Given the description of an element on the screen output the (x, y) to click on. 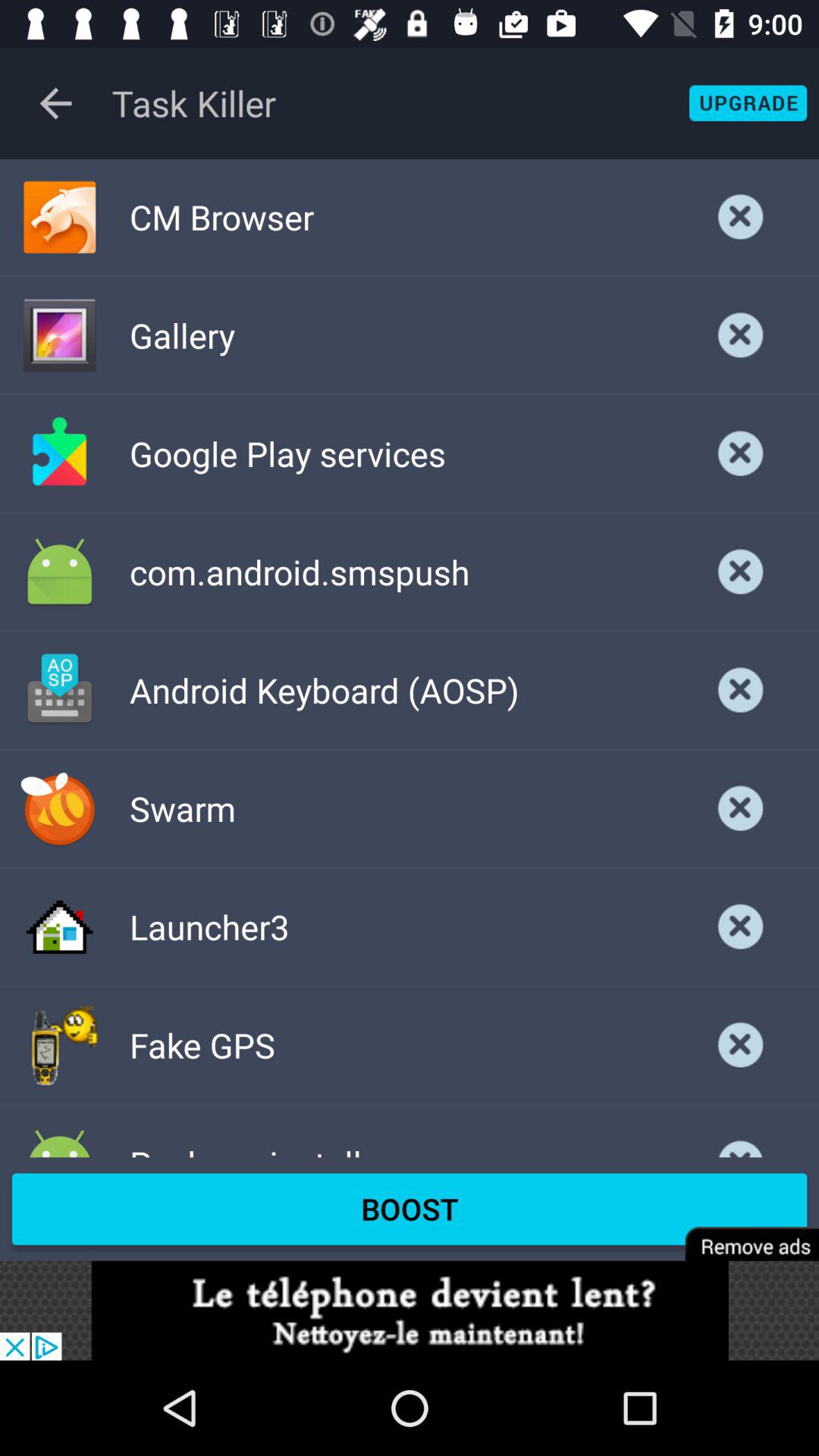
update button (748, 103)
